Given the description of an element on the screen output the (x, y) to click on. 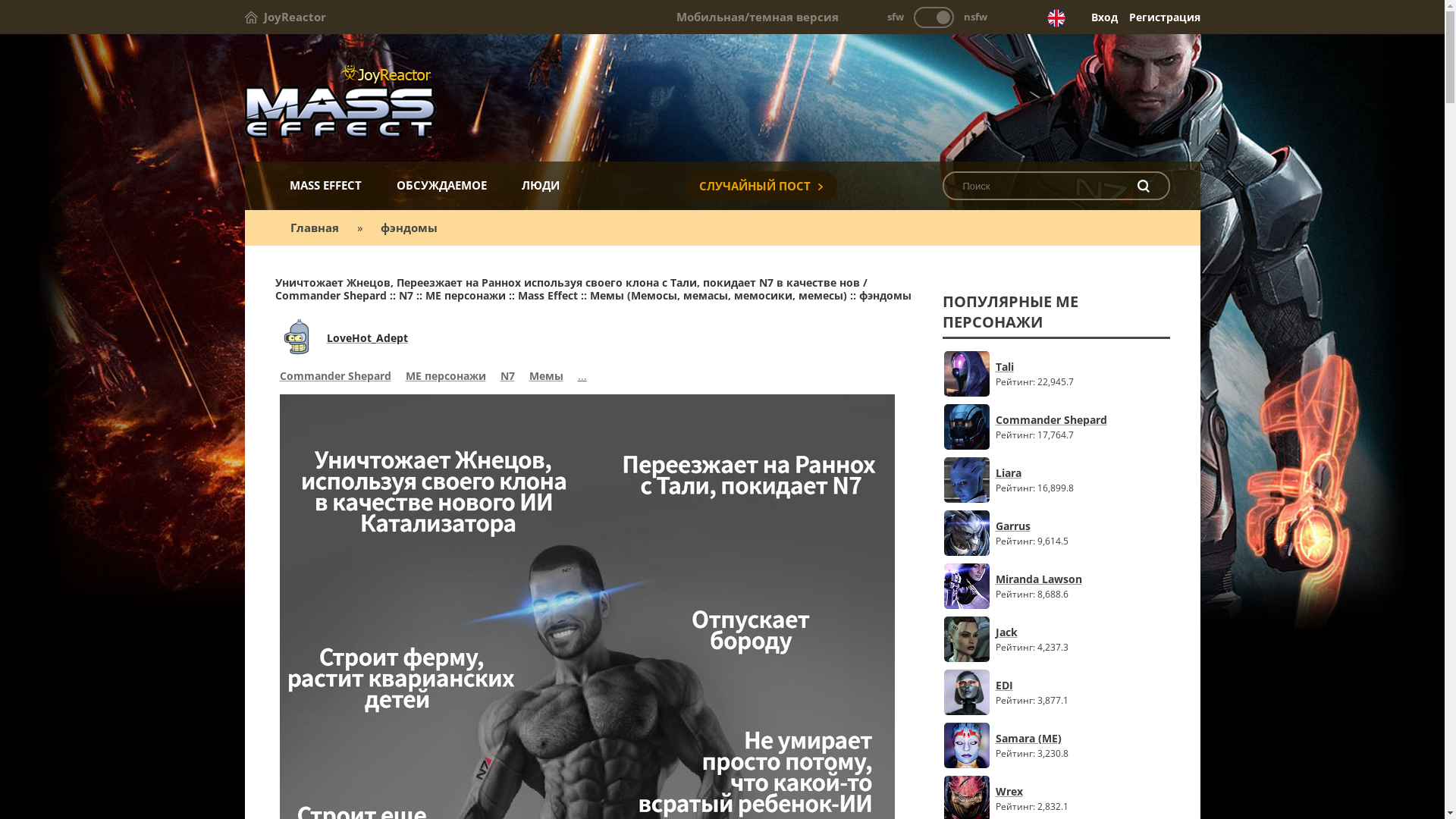
Liara Element type: text (1050, 472)
Mass Effect Element type: text (721, 98)
N7 Element type: text (507, 377)
Jack Element type: text (1050, 631)
English version Element type: hover (1055, 18)
Tali Element type: text (1050, 366)
JoyReactor Element type: text (284, 17)
LoveHot_Adept Element type: text (366, 337)
Commander Shepard Element type: text (334, 377)
EDI Element type: text (1050, 684)
MASS EFFECT Element type: text (324, 184)
Samara (ME) Element type: text (1050, 738)
Wrex Element type: text (1050, 791)
Miranda Lawson Element type: text (1050, 578)
Garrus Element type: text (1050, 525)
Commander Shepard Element type: text (1050, 419)
